Given the description of an element on the screen output the (x, y) to click on. 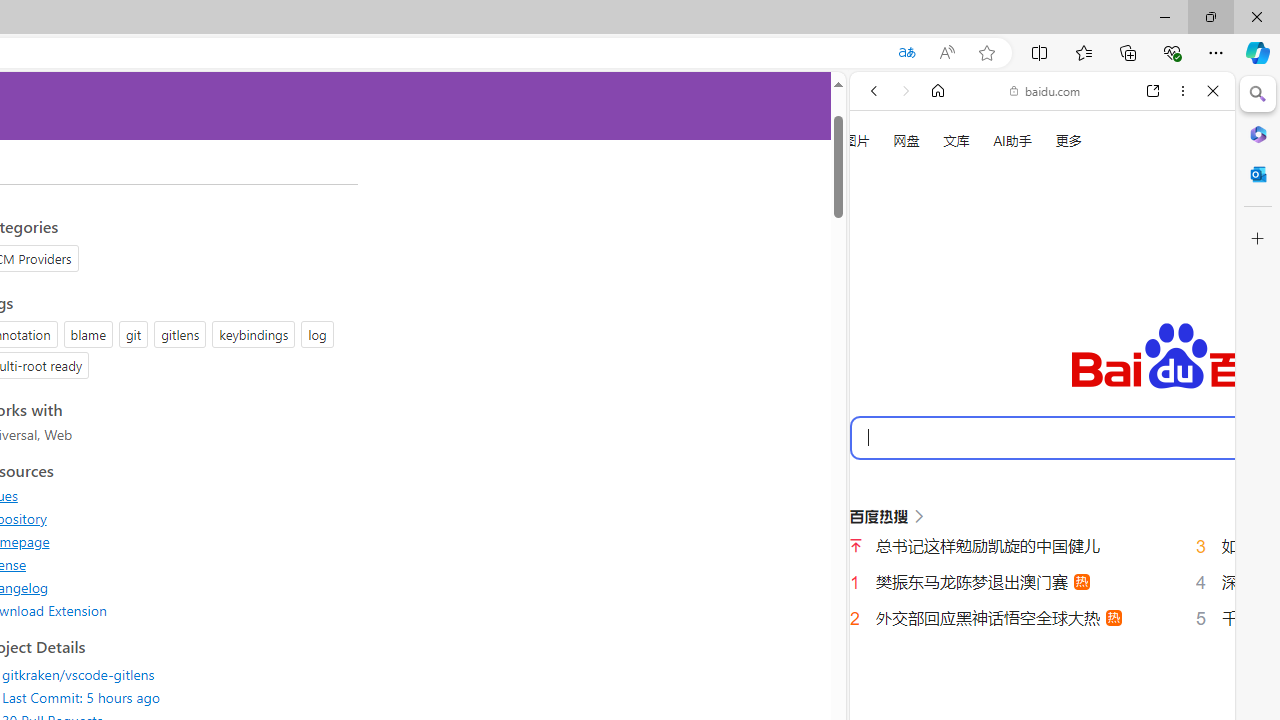
Learn more (943, 272)
To get missing image descriptions, open the context menu. (882, 228)
Search Filter, IMAGES (939, 339)
baidu.com (1045, 90)
Preferences (1189, 337)
WEB   (882, 339)
Search Filter, WEB (882, 339)
